Given the description of an element on the screen output the (x, y) to click on. 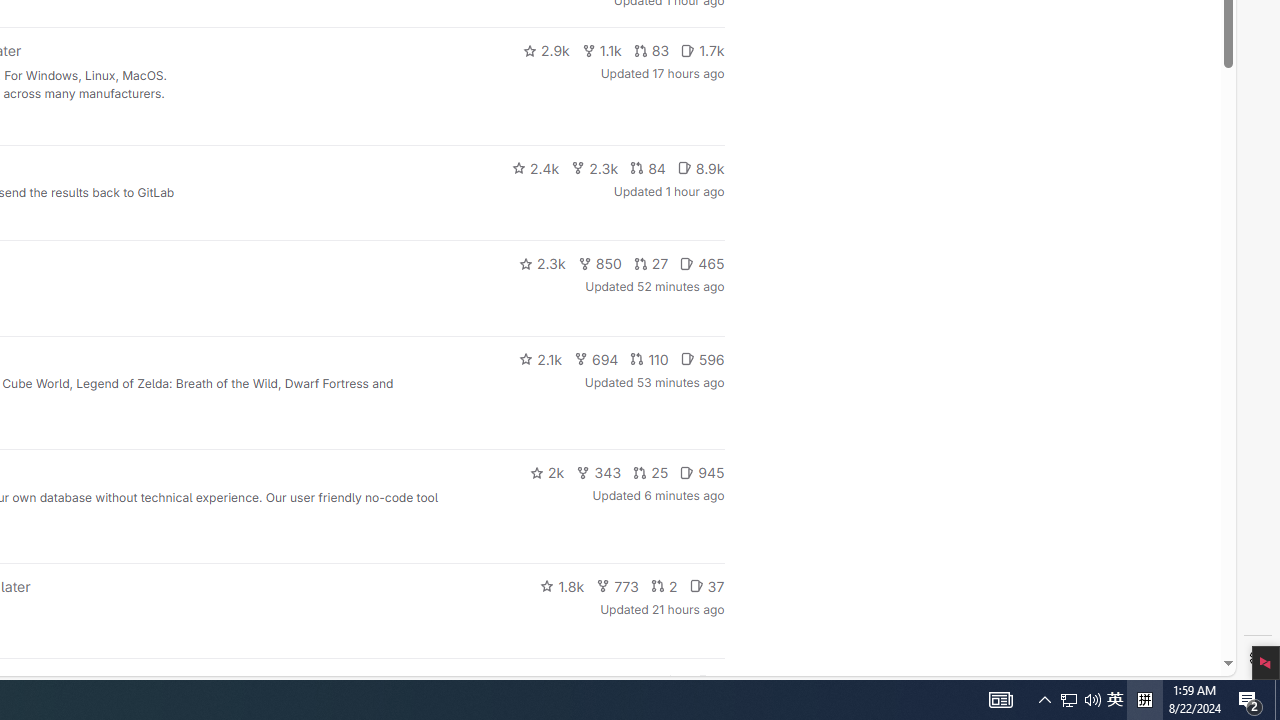
465 (701, 263)
850 (599, 263)
6 (710, 681)
343 (599, 472)
1.7k (702, 50)
83 (651, 50)
596 (1115, 699)
2.9k (701, 358)
773 (545, 50)
8.9k (618, 585)
